Given the description of an element on the screen output the (x, y) to click on. 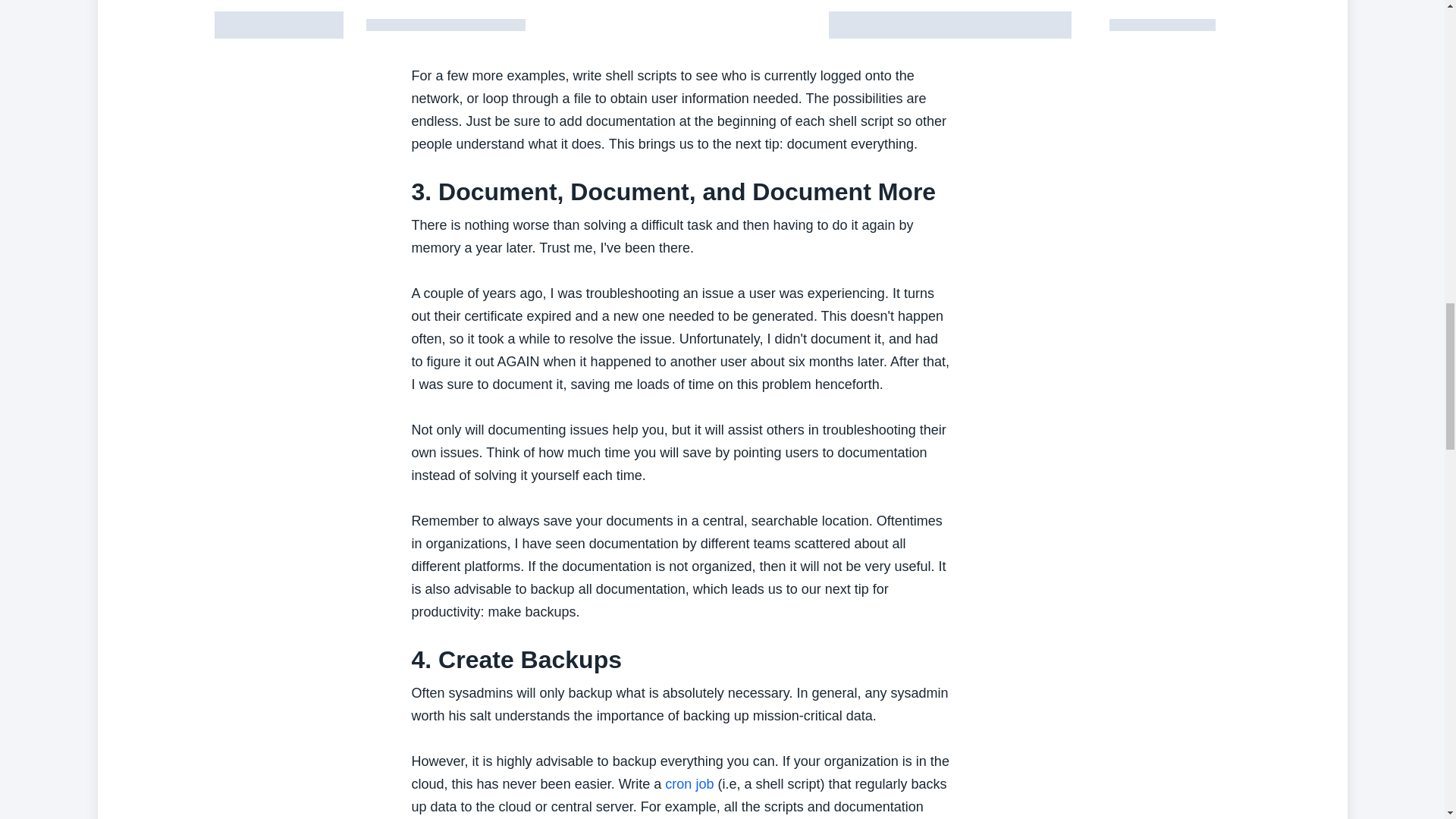
cron job (689, 783)
